Given the description of an element on the screen output the (x, y) to click on. 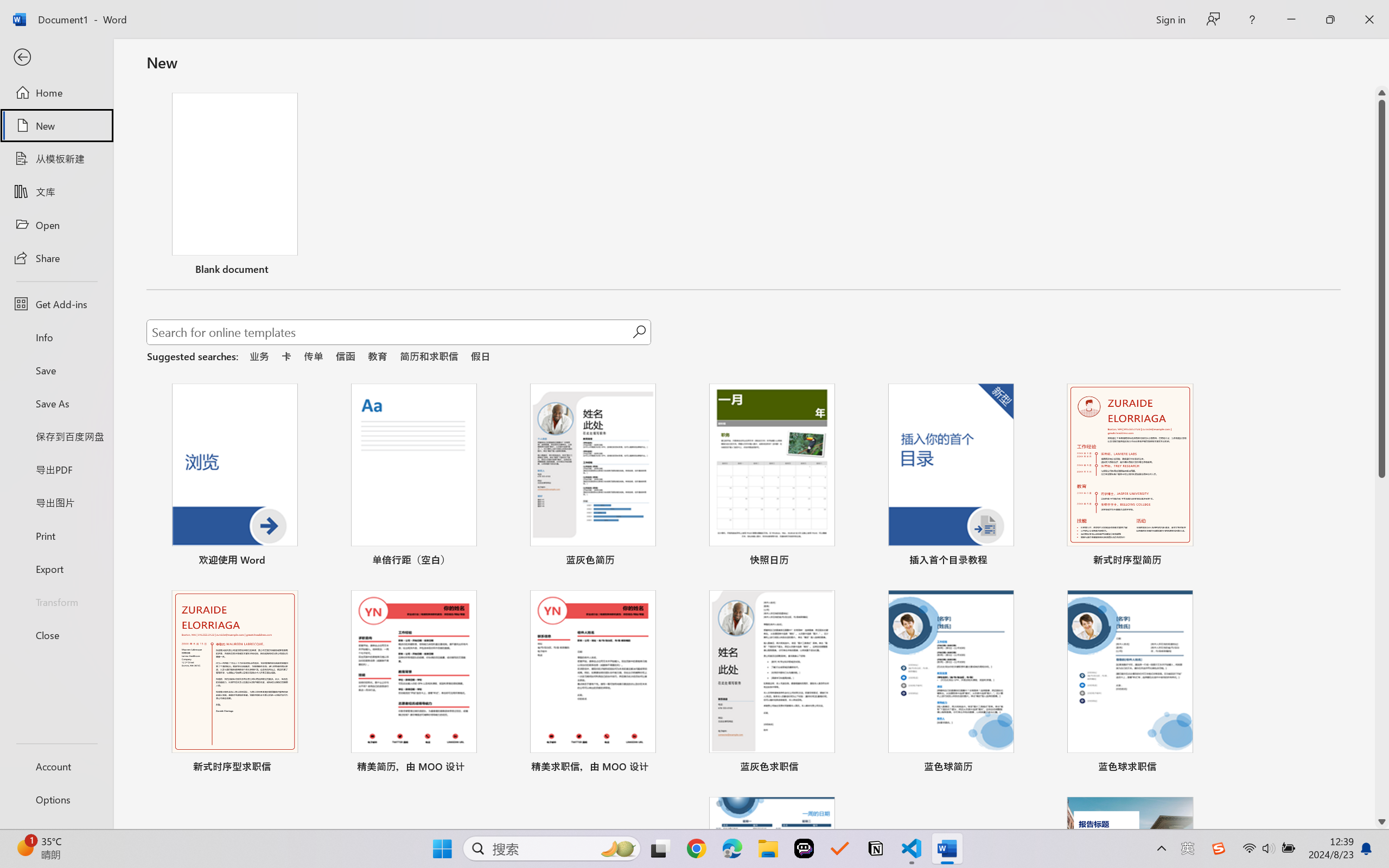
Page down (1382, 646)
